Given the description of an element on the screen output the (x, y) to click on. 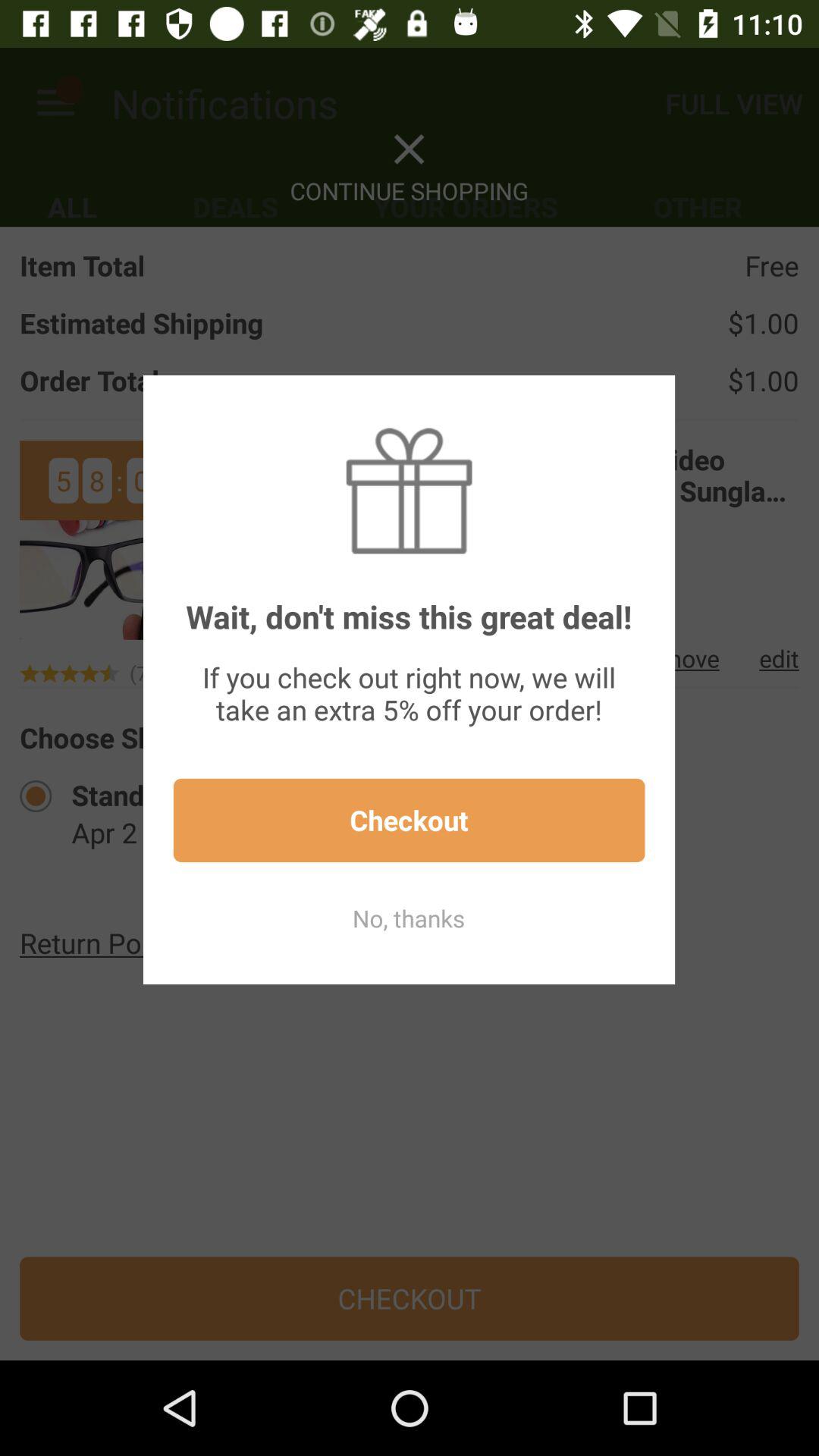
turn on no, thanks item (408, 918)
